Given the description of an element on the screen output the (x, y) to click on. 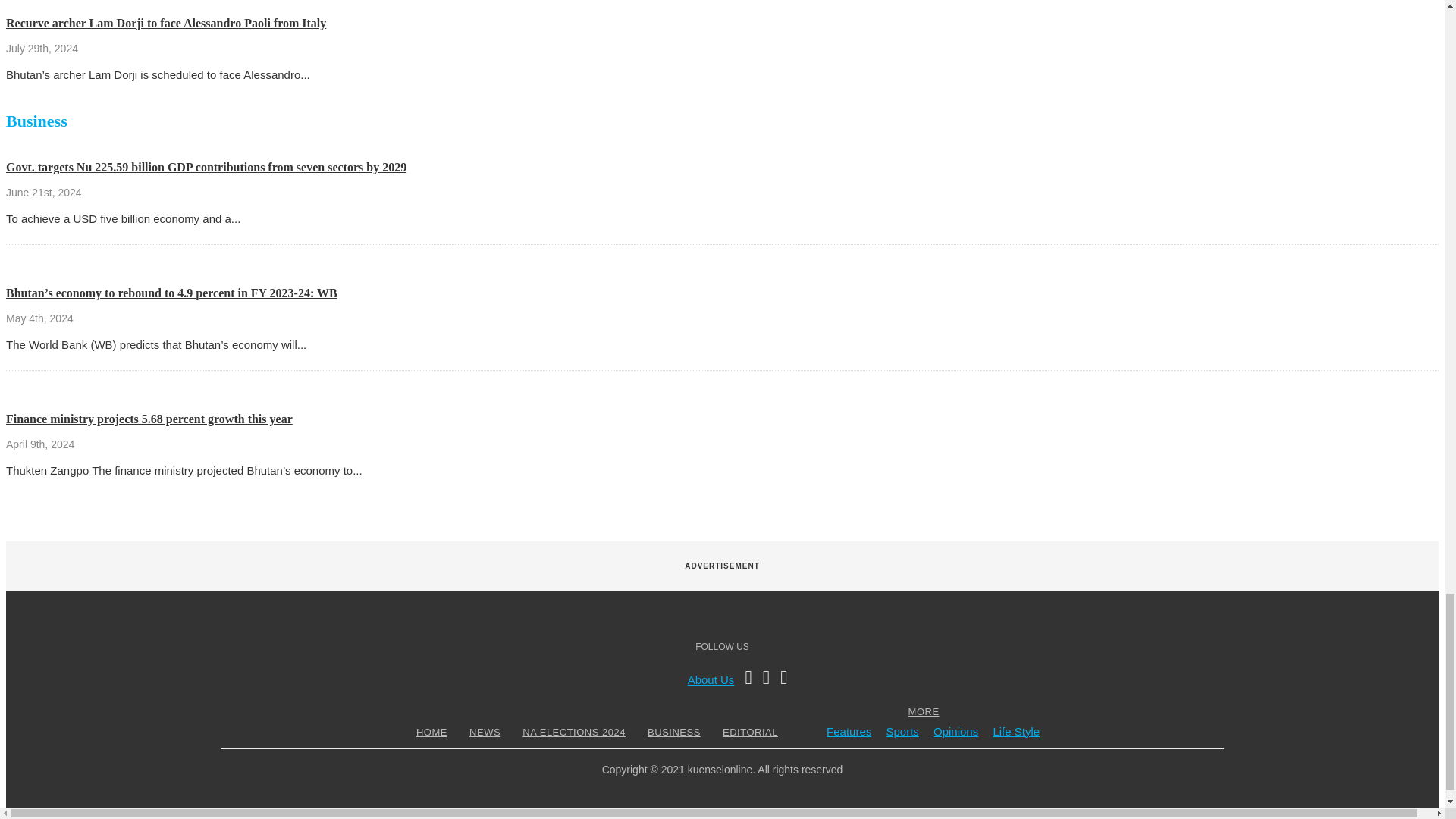
About Us (711, 679)
Recurve archer Lam Dorji to face Alessandro Paoli from Italy (165, 22)
Finance ministry projects 5.68 percent growth this year (148, 418)
HOME (431, 731)
BUSINESS (673, 731)
NEWS (484, 731)
NA ELECTIONS 2024 (573, 731)
EDITORIAL (750, 731)
MORE (923, 711)
